Given the description of an element on the screen output the (x, y) to click on. 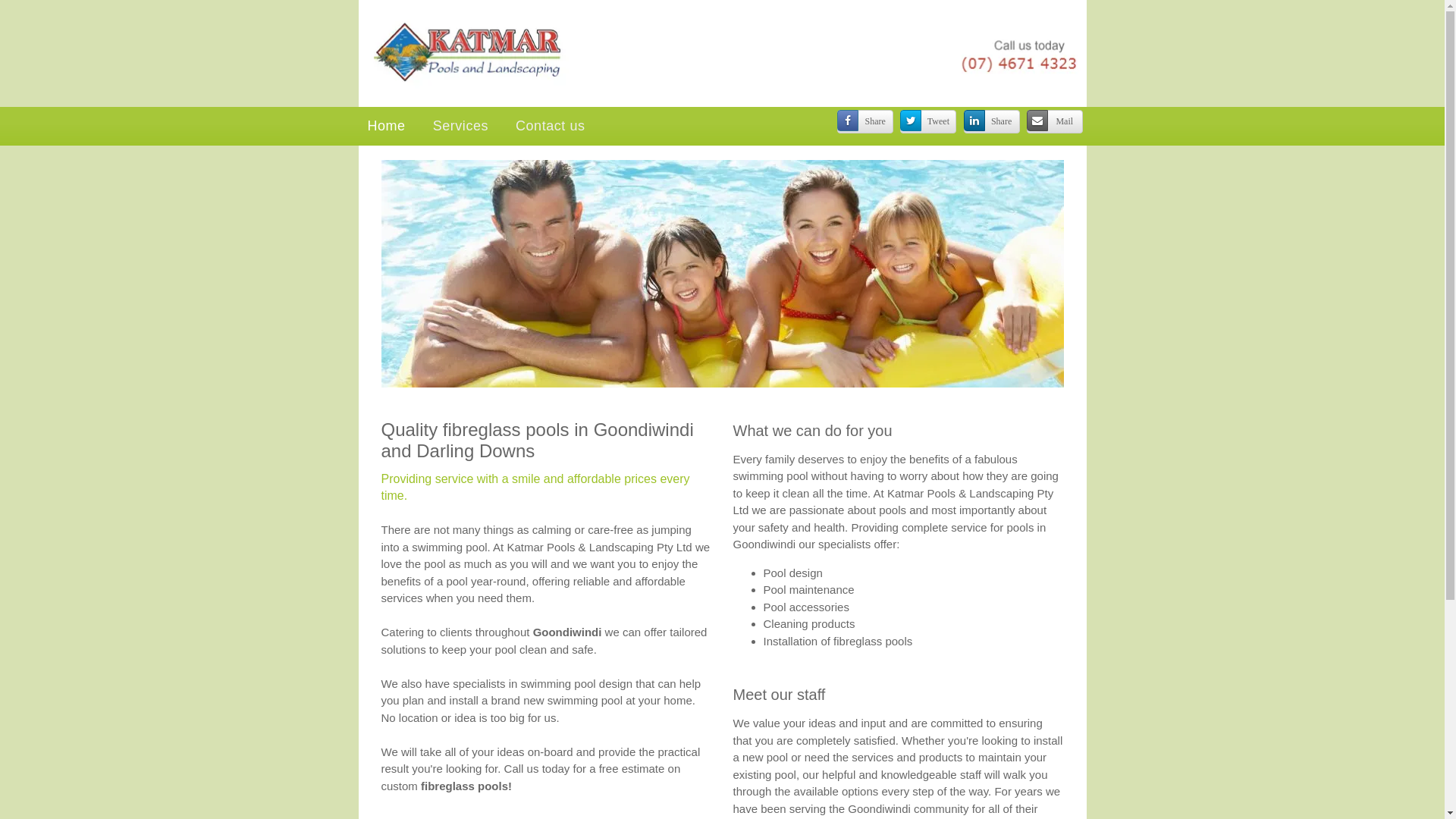
Services Element type: text (460, 125)
Contact us Element type: text (549, 125)
Home Element type: text (385, 125)
